Given the description of an element on the screen output the (x, y) to click on. 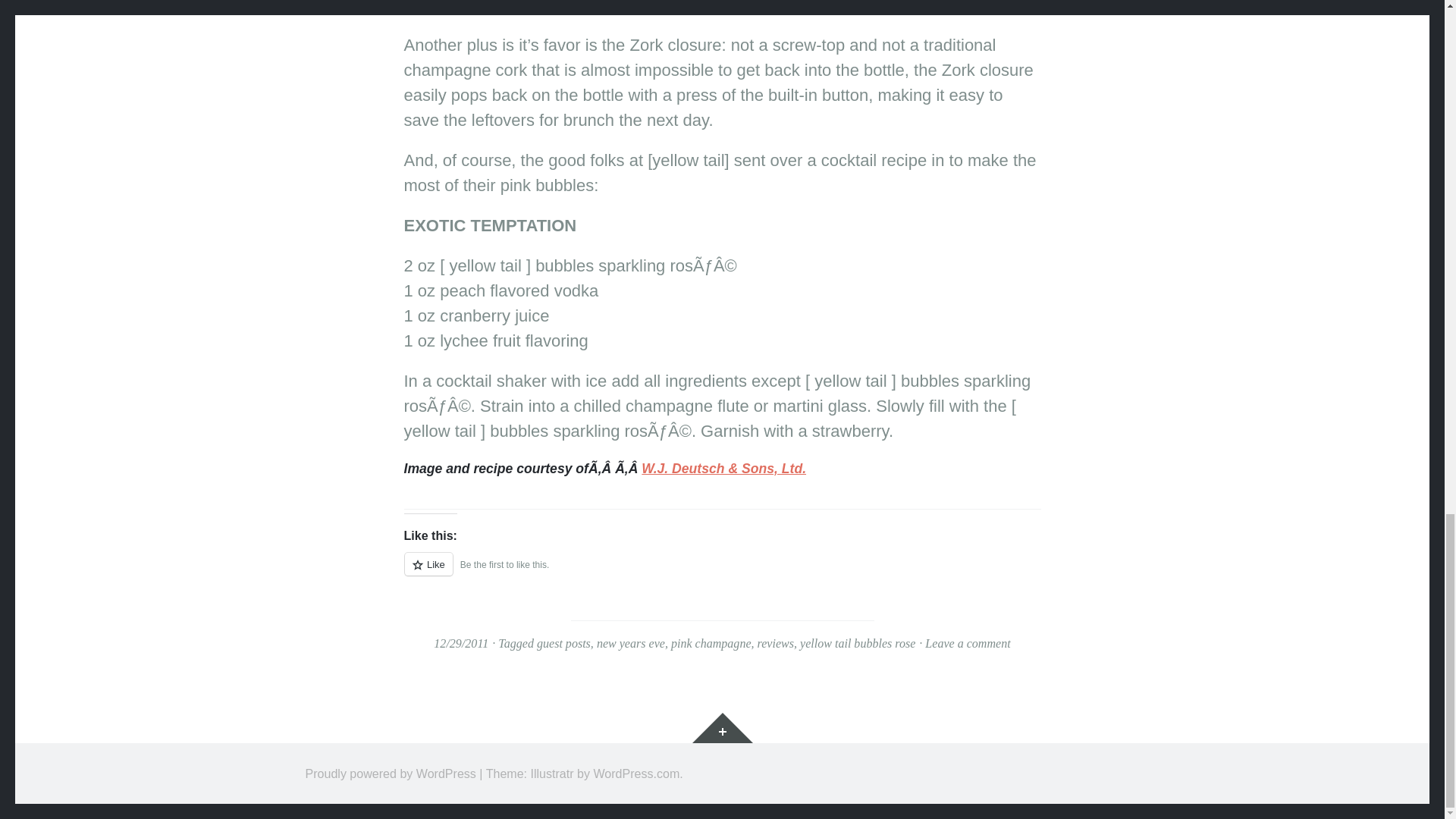
new years eve (630, 643)
yellow tail bubbles rose (857, 643)
Leave a comment (967, 643)
guest posts (564, 643)
Like or Reblog (722, 572)
reviews (775, 643)
pink champagne (711, 643)
Widgets (721, 727)
